Given the description of an element on the screen output the (x, y) to click on. 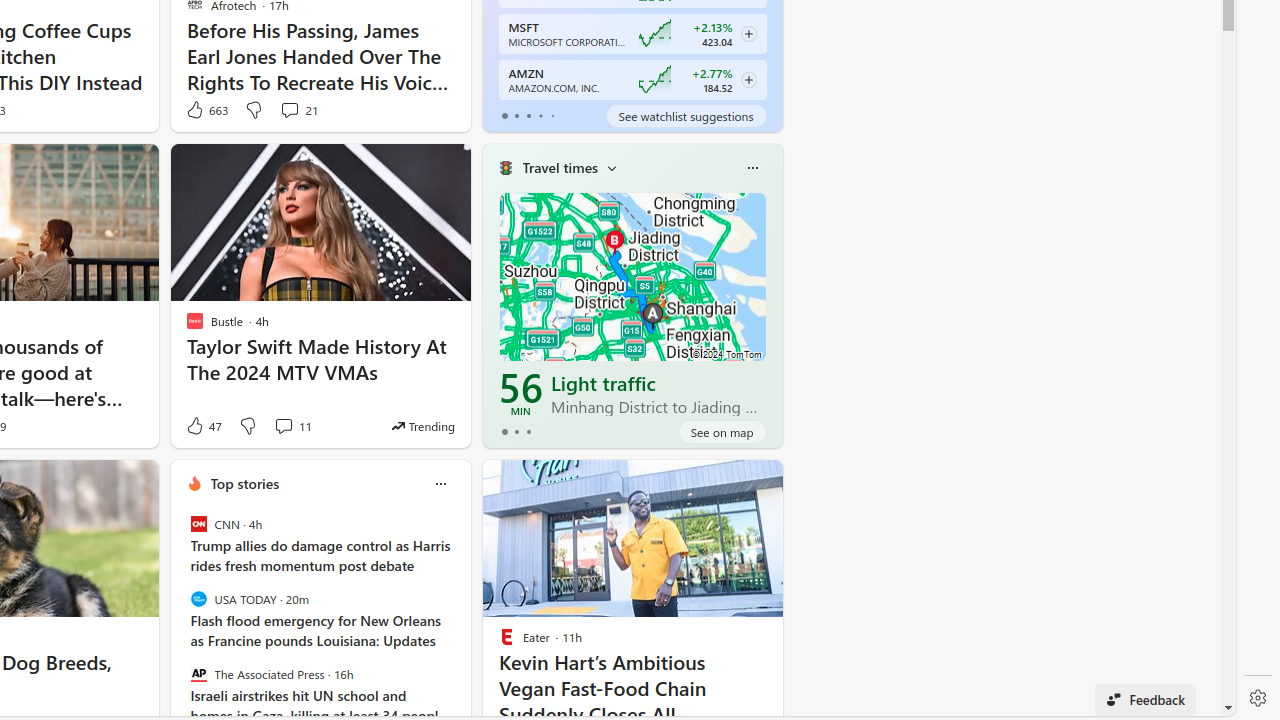
USA TODAY USA TODAY 20 minutes Flash flood emergency for New Orleans as Francine pounds Louisiana: Updates Element type: link (320, 620)
tab-3 Element type: page-tab (540, 115)
